Given the description of an element on the screen output the (x, y) to click on. 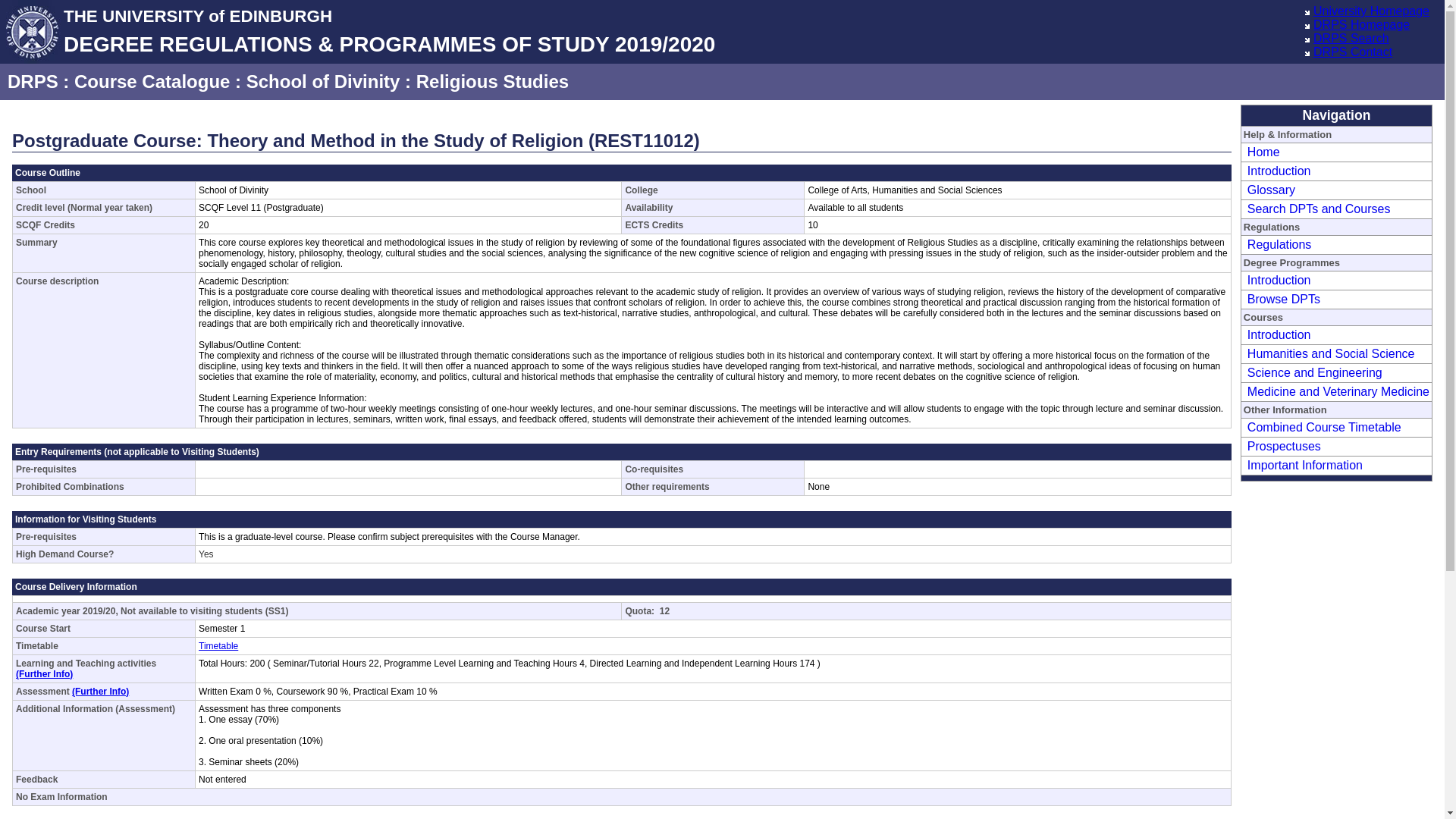
DRPS (32, 81)
Important Information (1302, 464)
University Homepage (1371, 10)
Regulations (1277, 244)
Glossary (1269, 189)
Timetable (218, 645)
Medicine and Veterinary Medicine (1336, 391)
Introduction (1277, 334)
Religious Studies (492, 81)
Prospectuses (1281, 445)
